Given the description of an element on the screen output the (x, y) to click on. 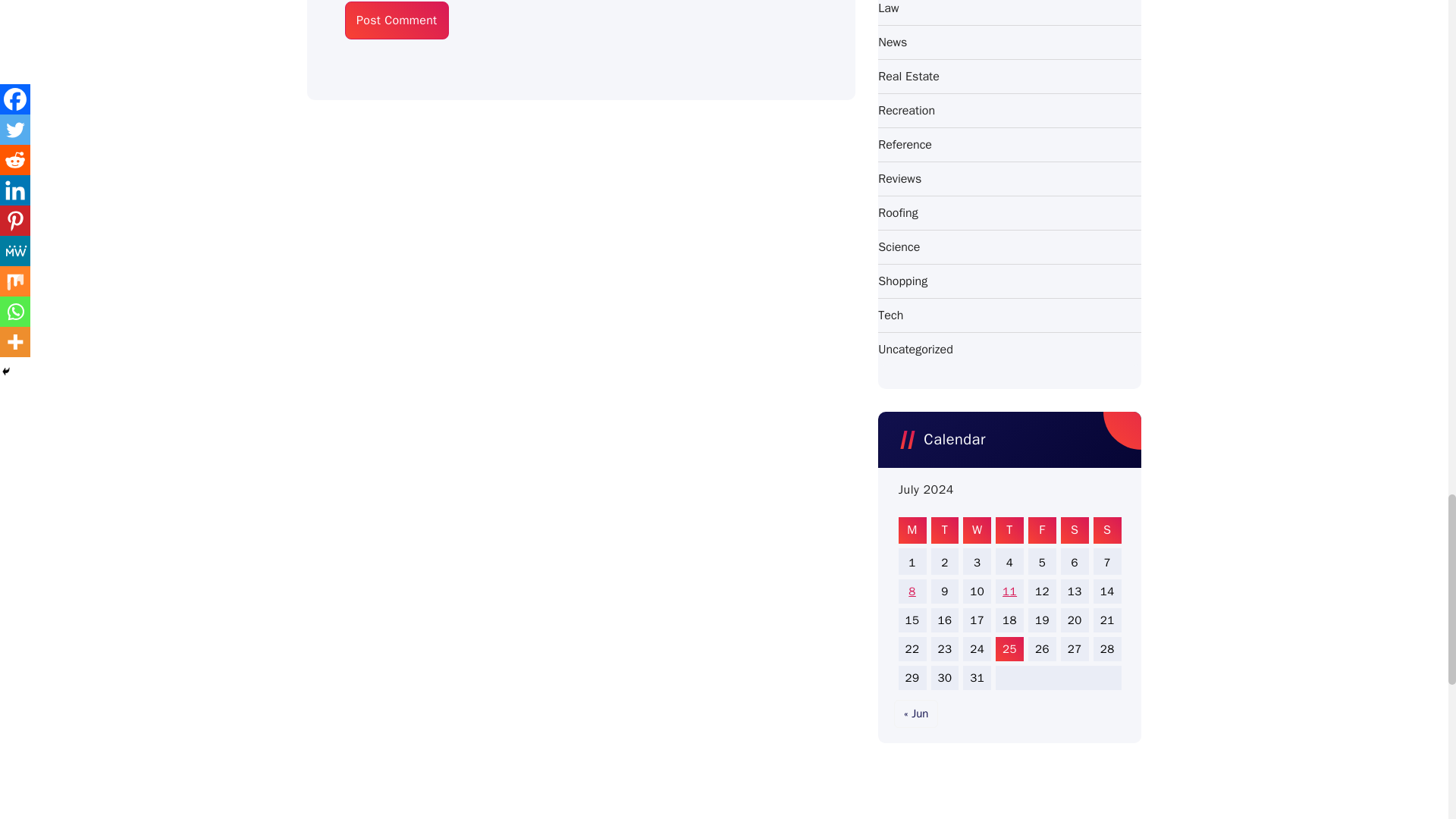
Post Comment (396, 20)
